Given the description of an element on the screen output the (x, y) to click on. 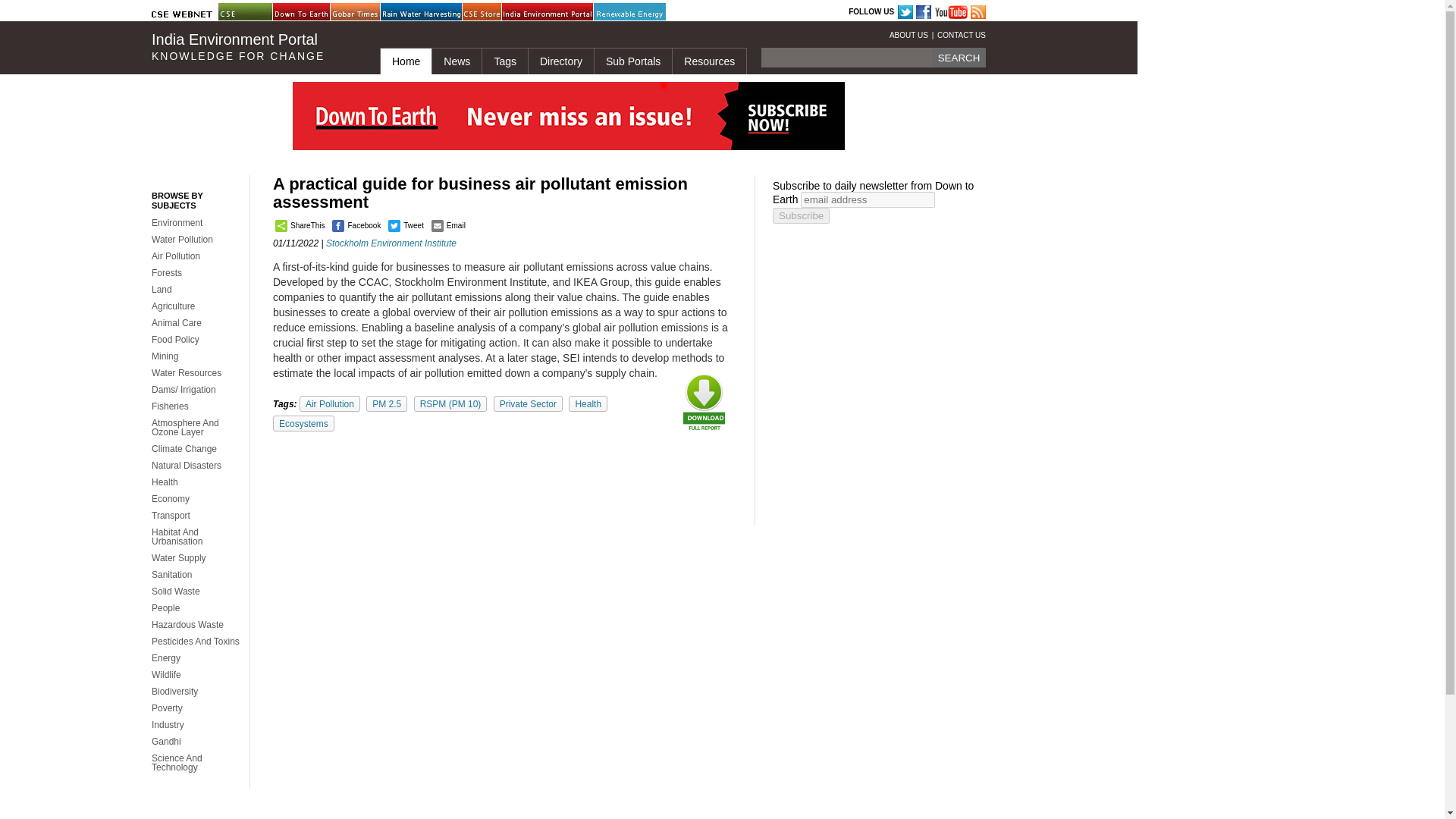
Home (405, 60)
Down to Earth (311, 11)
Rain Water Harvesting (418, 11)
Renewable Energy (631, 11)
Subscribe (801, 215)
India Environment Portal (540, 11)
Sub Portals (632, 60)
CSE (256, 11)
CSE Store (500, 11)
India Environment Portal KNOWLEDGE FOR CHANGE (253, 46)
Tags (504, 60)
Resources (708, 60)
News (455, 60)
Gobar Times (368, 11)
Directory (560, 60)
